Given the description of an element on the screen output the (x, y) to click on. 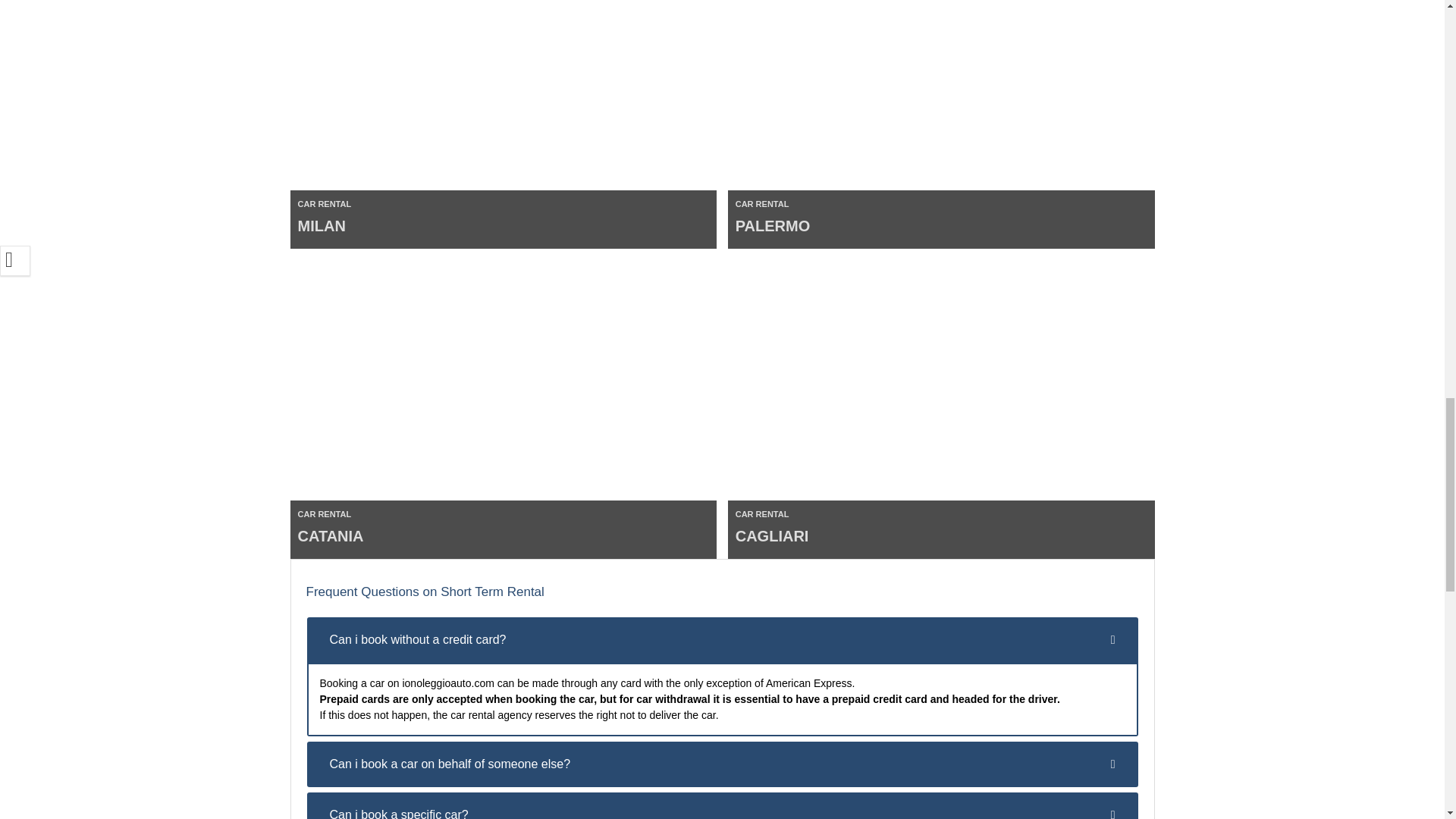
Car Rental Cagliari (941, 416)
Car Rental Catania (502, 416)
Car Rental Palermo (941, 124)
Car Rental Milan (502, 124)
